Given the description of an element on the screen output the (x, y) to click on. 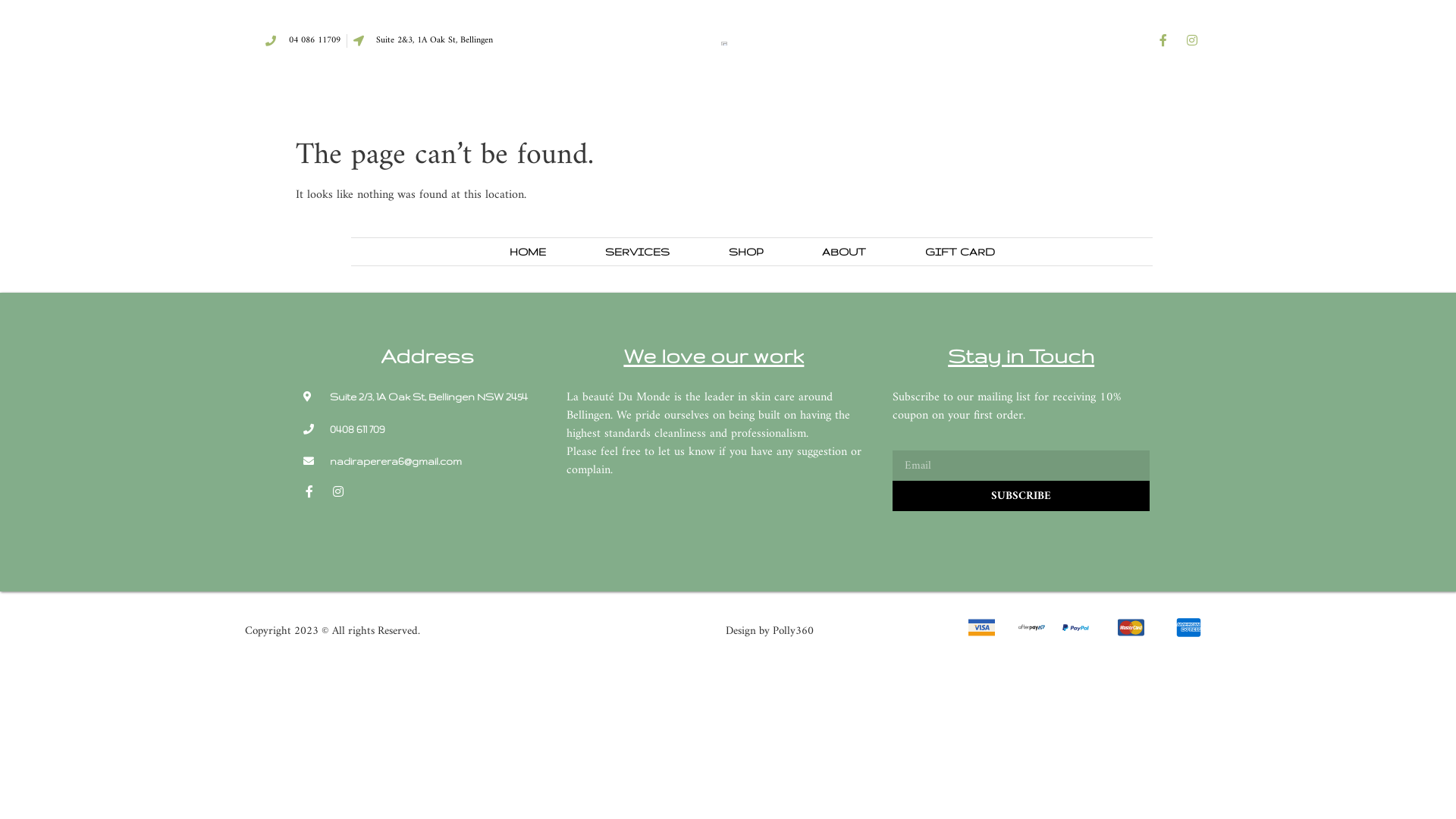
SHOP Element type: text (745, 251)
Suite 2&3, 1A Oak St, Bellingen Element type: text (423, 40)
SERVICES Element type: text (636, 251)
Polly360 Element type: text (792, 631)
ABOUT Element type: text (842, 251)
GIFT CARD Element type: text (958, 251)
0408 611 709 Element type: text (427, 429)
Suite 2/3, 1A Oak St, Bellingen NSW 2454 Element type: text (427, 396)
SUBSCRIBE Element type: text (1020, 495)
04 086 11709 Element type: text (302, 40)
HOME Element type: text (526, 251)
nadiraperera6@gmail.com Element type: text (427, 461)
